Given the description of an element on the screen output the (x, y) to click on. 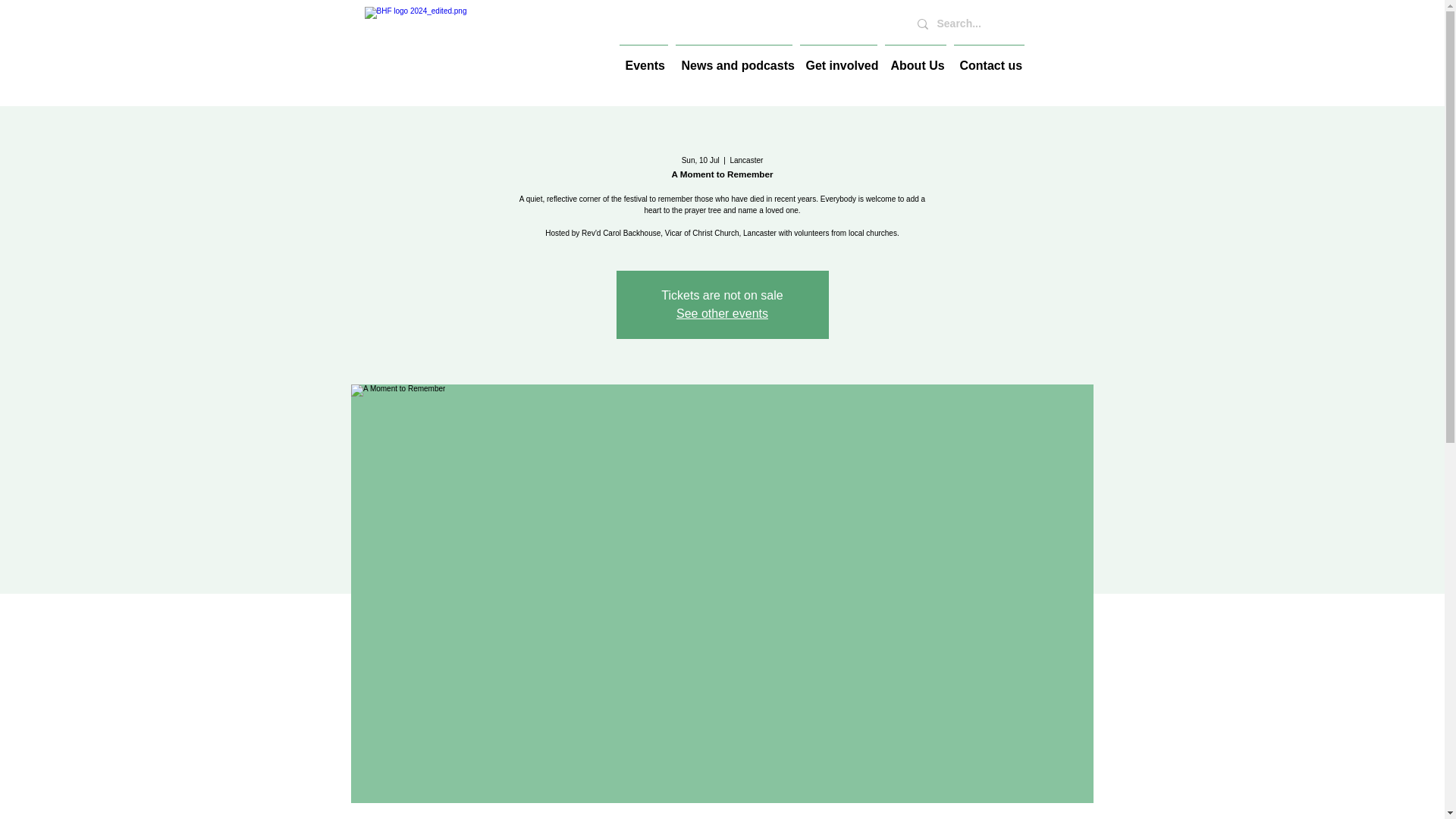
Events (643, 58)
Bay Health Festivals logo 2024.png (484, 48)
See other events (722, 313)
About Us (915, 58)
Contact us (988, 58)
Get involved (838, 58)
